Given the description of an element on the screen output the (x, y) to click on. 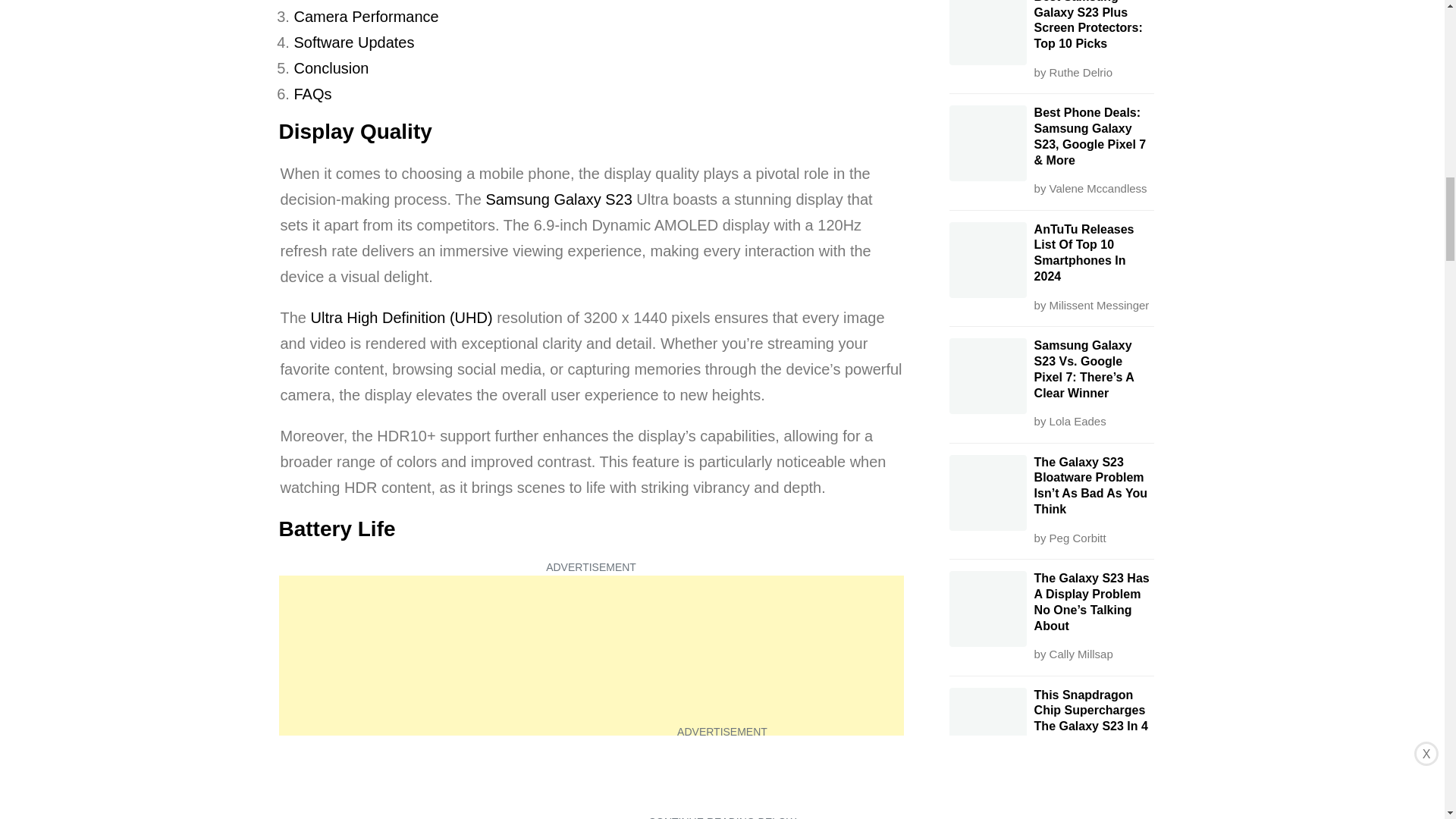
Samsung Galaxy S23 (557, 199)
